Given the description of an element on the screen output the (x, y) to click on. 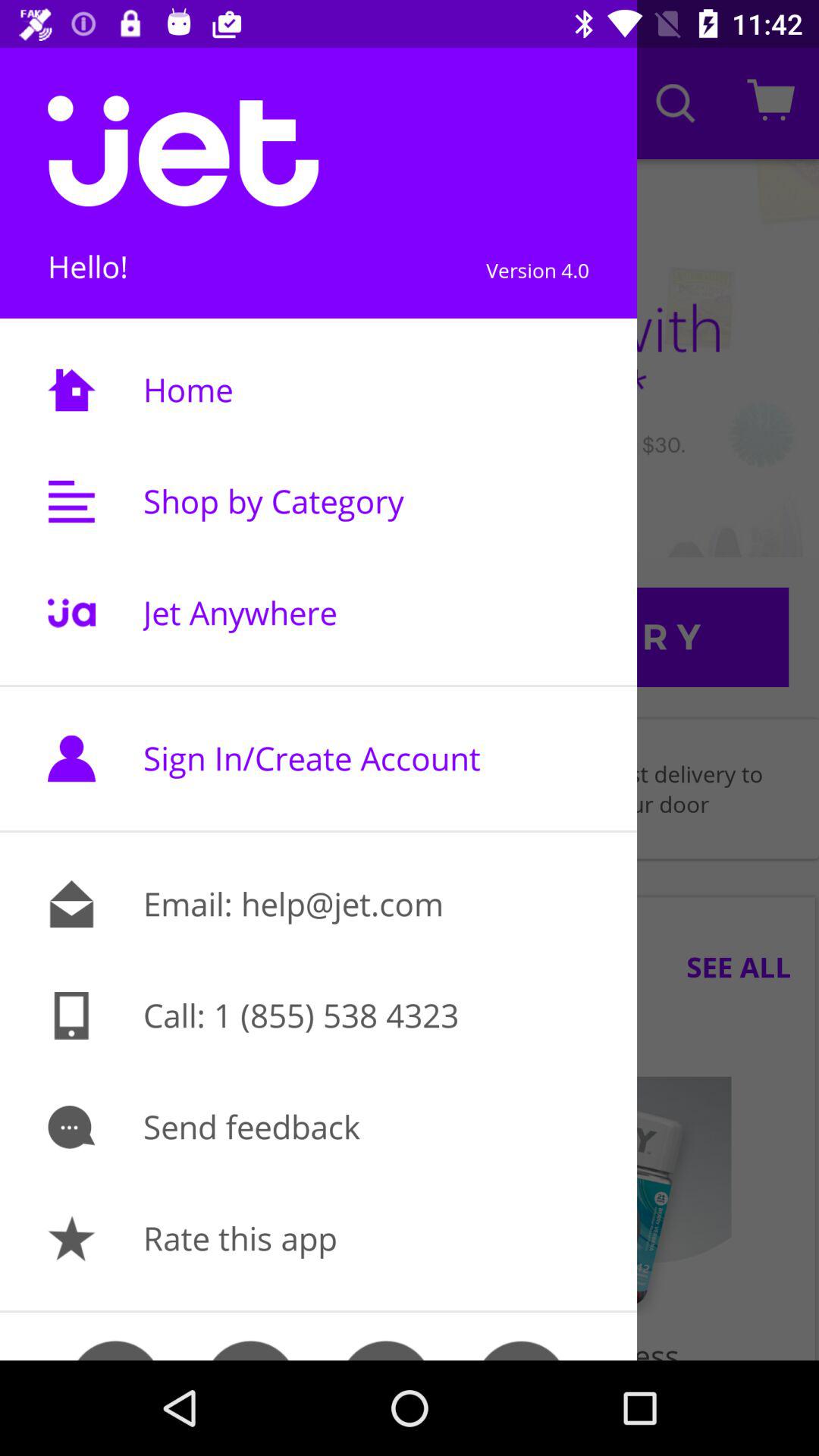
click on mobile image (71, 1015)
